Given the description of an element on the screen output the (x, y) to click on. 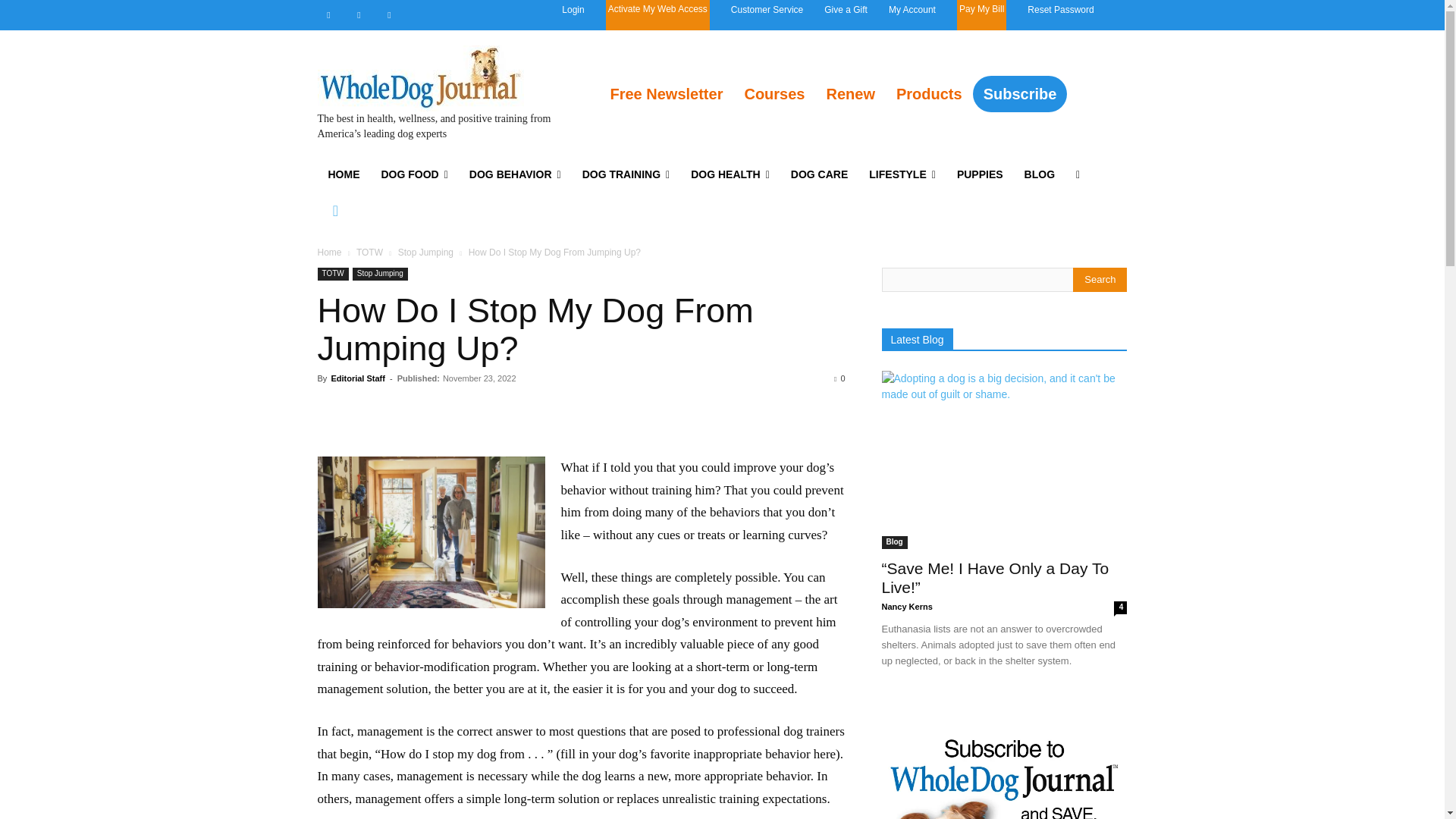
Twitter (388, 15)
Search (1099, 279)
Login (572, 9)
Instagram (358, 15)
Give a Gift (845, 9)
Facebook (328, 15)
Customer Service (766, 9)
Activate My Web Access (657, 15)
